Given the description of an element on the screen output the (x, y) to click on. 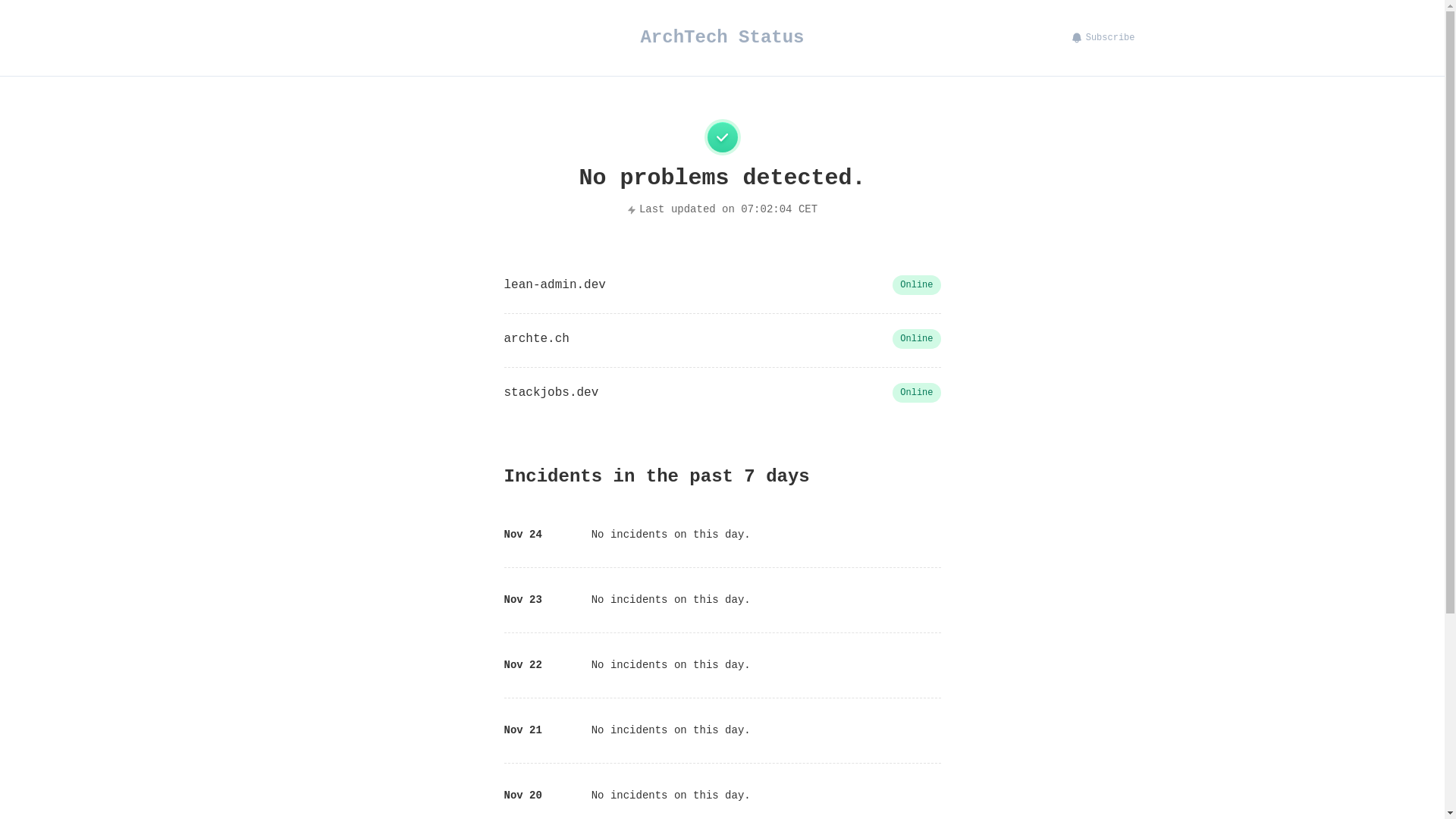
stackjobs.dev
Online Element type: text (721, 392)
lean-admin.dev
Online Element type: text (721, 284)
archte.ch
Online Element type: text (721, 338)
Subscribe
Subscribe to updates Element type: text (1102, 37)
